Given the description of an element on the screen output the (x, y) to click on. 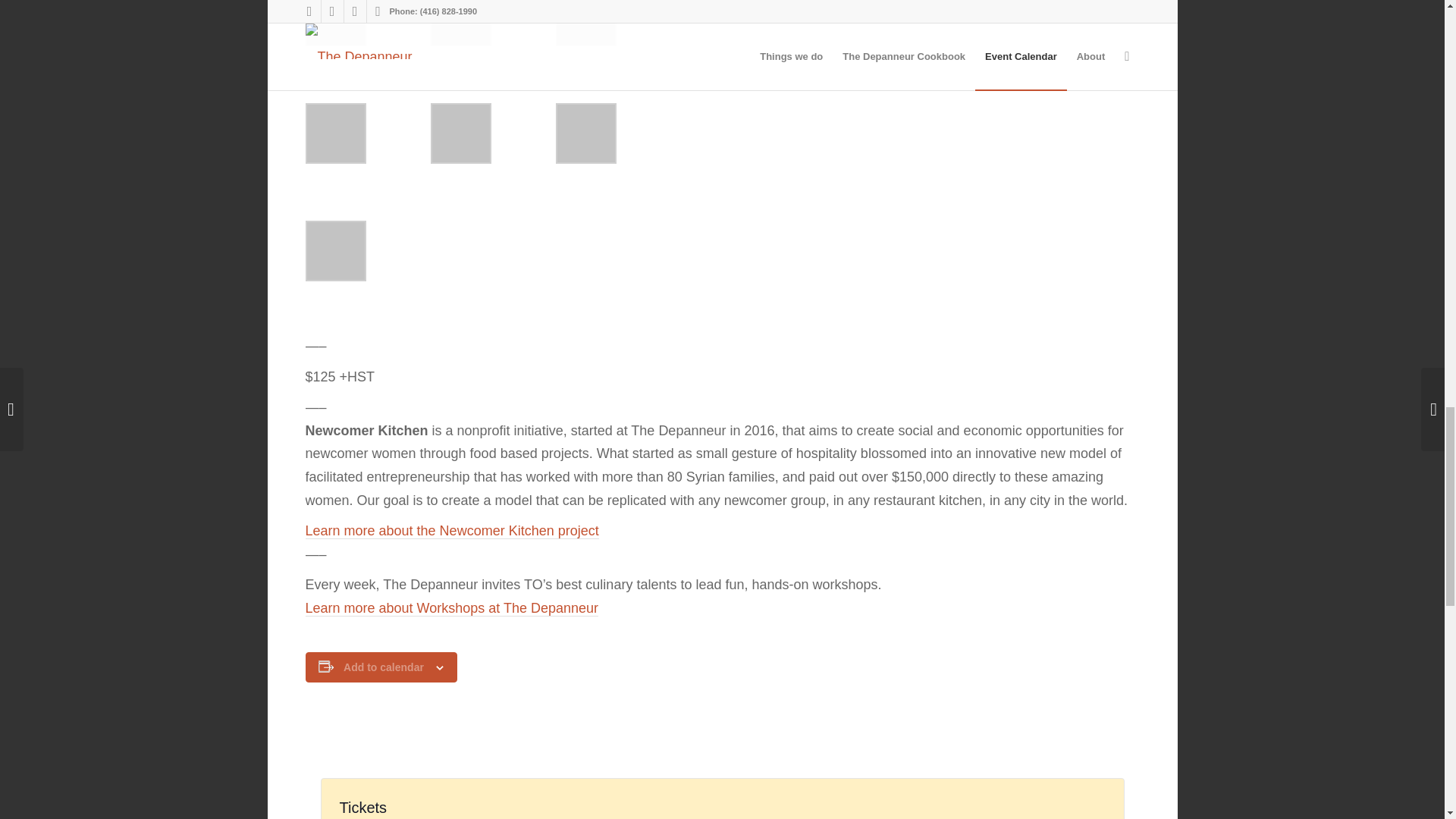
Learn more about Workshops at The Depanneur (451, 608)
Learn more about the Newcomer Kitchen project (451, 530)
Add to calendar (383, 666)
